Given the description of an element on the screen output the (x, y) to click on. 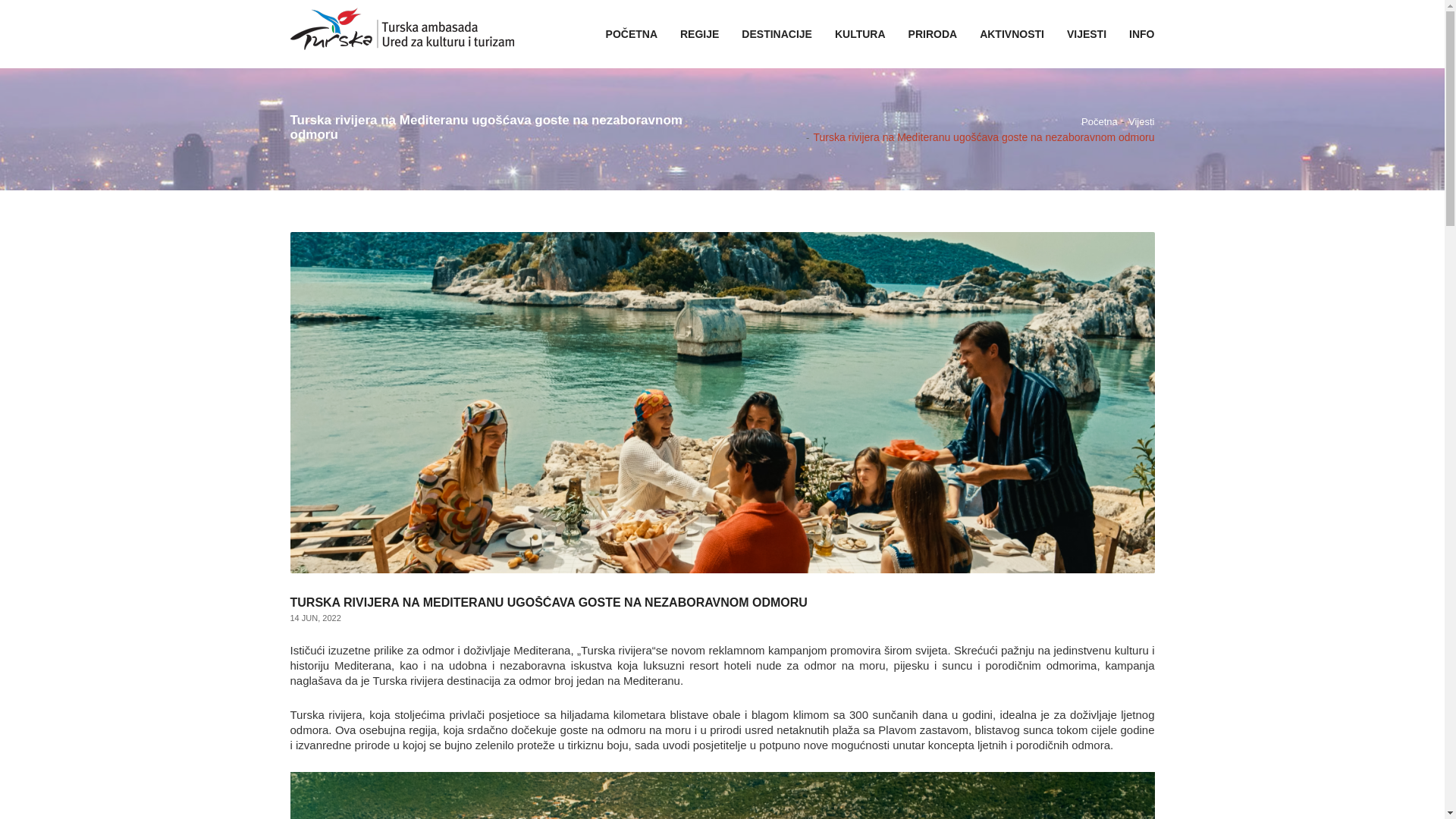
VIJESTI Element type: text (1086, 34)
DESTINACIJE Element type: text (776, 34)
AKTIVNOSTI Element type: text (1011, 34)
Vijesti Element type: text (1141, 122)
INFO Element type: text (1141, 34)
PRIRODA Element type: text (933, 34)
REGIJE Element type: text (699, 34)
KULTURA Element type: text (860, 34)
